Given the description of an element on the screen output the (x, y) to click on. 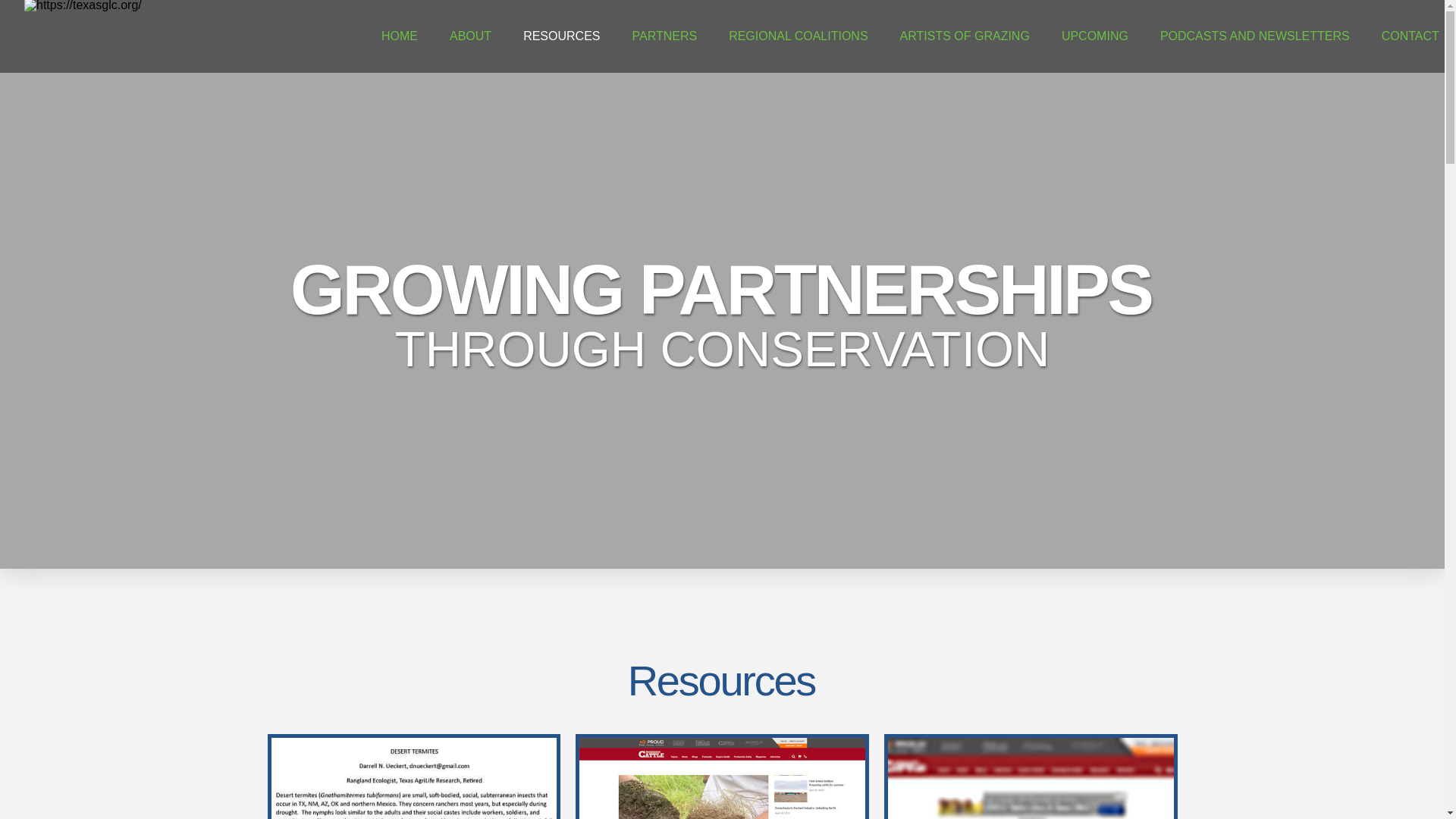
UPCOMING (1094, 35)
REGIONAL COALITIONS (798, 35)
PODCASTS AND NEWSLETTERS (1254, 35)
ABOUT (469, 35)
ARTISTS OF GRAZING (964, 35)
CONTACT (1409, 35)
PARTNERS (664, 35)
HOME (399, 35)
RESOURCES (560, 35)
